Given the description of an element on the screen output the (x, y) to click on. 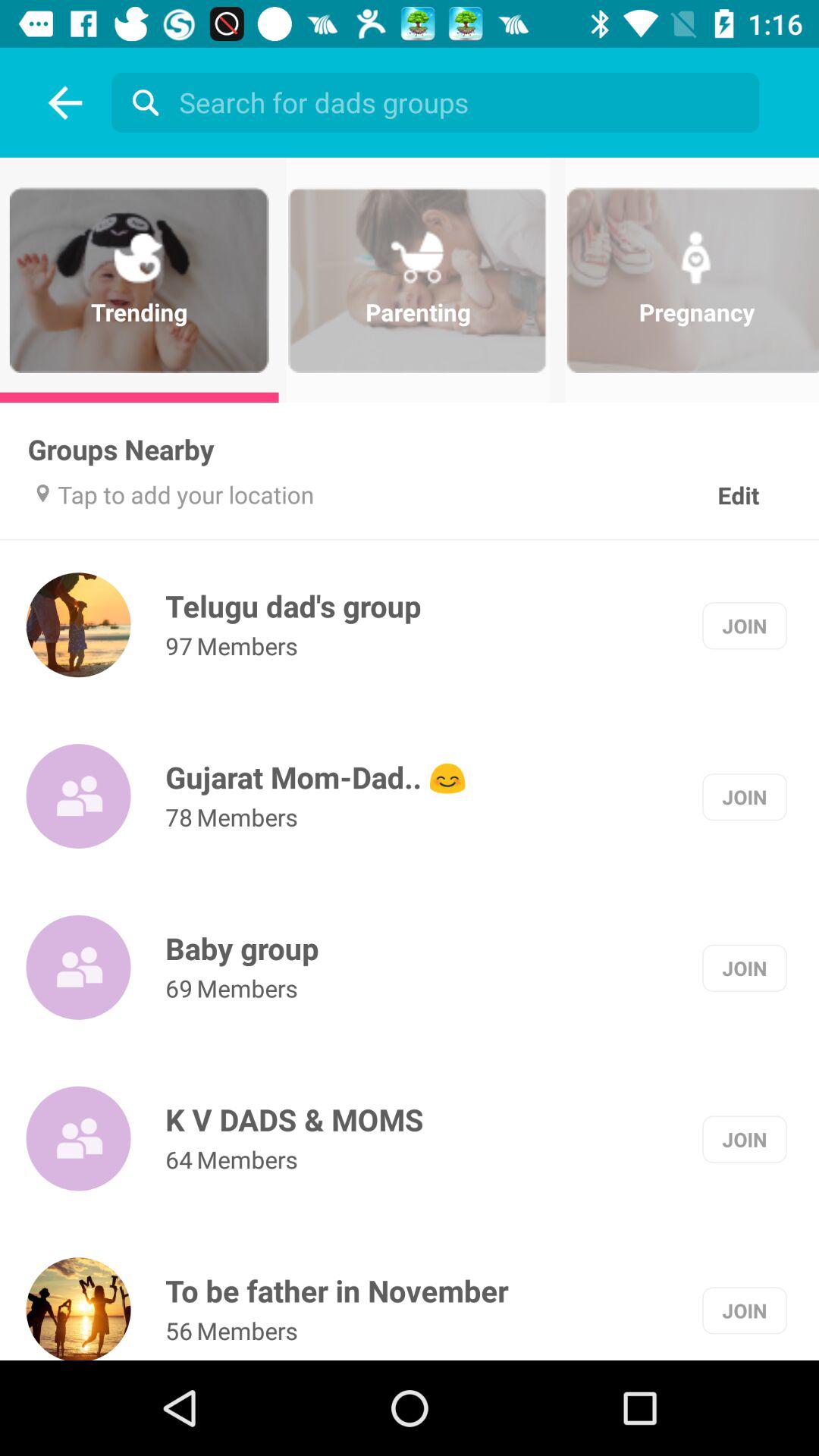
enter search terms (439, 102)
